Given the description of an element on the screen output the (x, y) to click on. 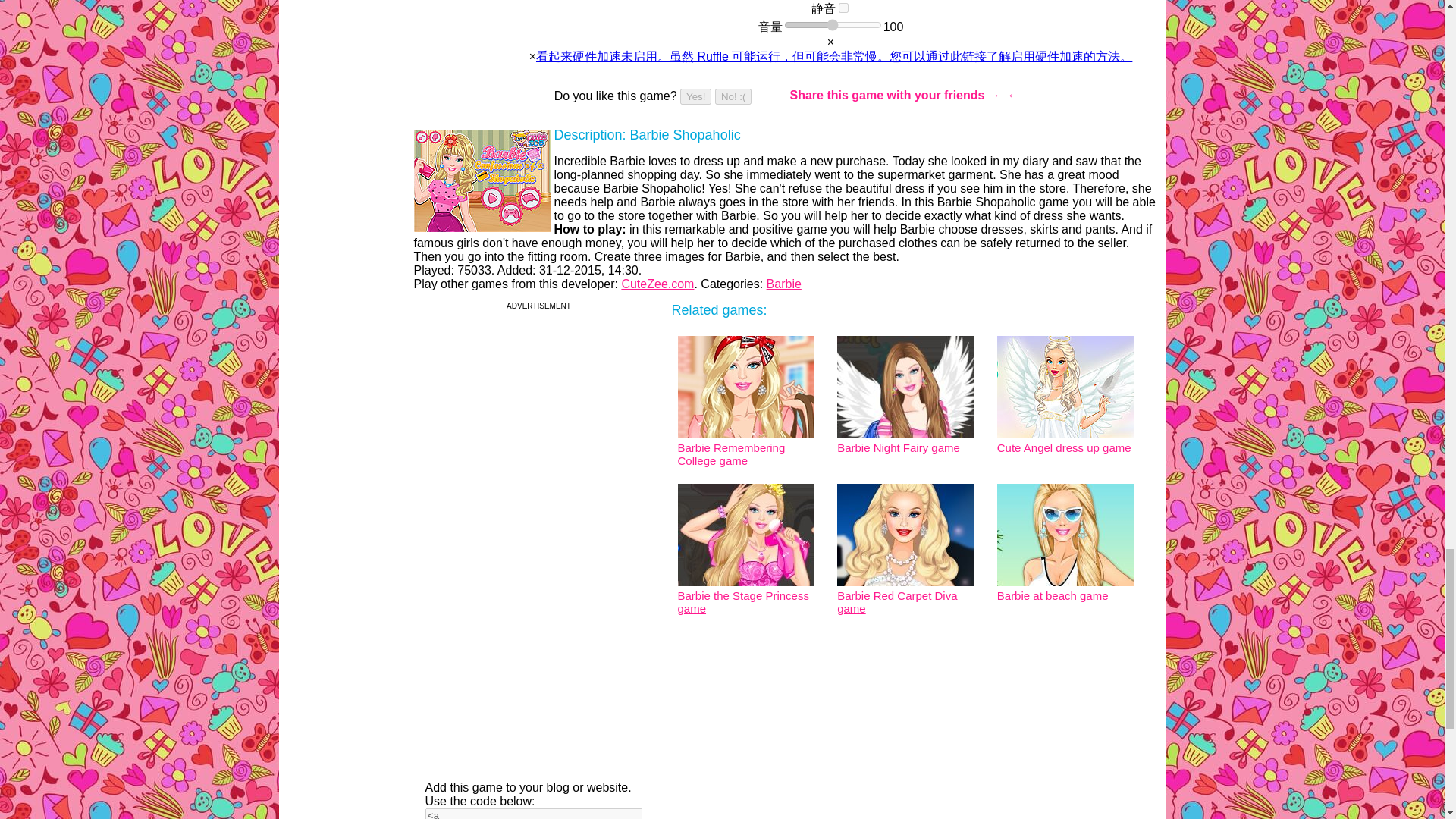
Barbie Night Fairy game (909, 440)
Barbie (784, 283)
Barbie Red Carpet Diva game (909, 595)
Barbie the Stage Princess game (750, 595)
Yes! (695, 96)
CuteZee.com (657, 283)
Cute Angel dress up game (1069, 440)
Barbie at beach game (1069, 588)
Yes! (695, 96)
Barbie Remembering College game (750, 446)
